Given the description of an element on the screen output the (x, y) to click on. 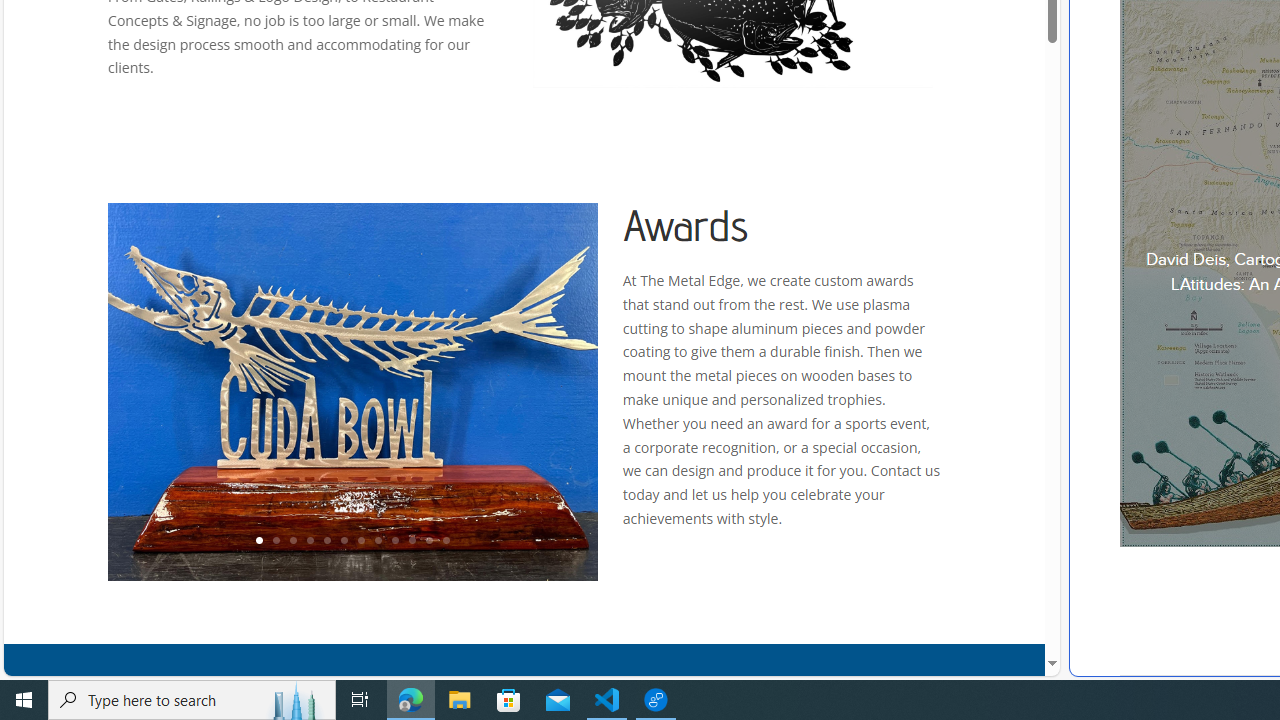
8 (377, 541)
5 (326, 541)
10 (412, 541)
7 (360, 541)
4 (309, 541)
6 (344, 541)
12 (445, 541)
11 (428, 541)
2 (275, 541)
1 (258, 541)
3 (292, 541)
9 (394, 541)
